Given the description of an element on the screen output the (x, y) to click on. 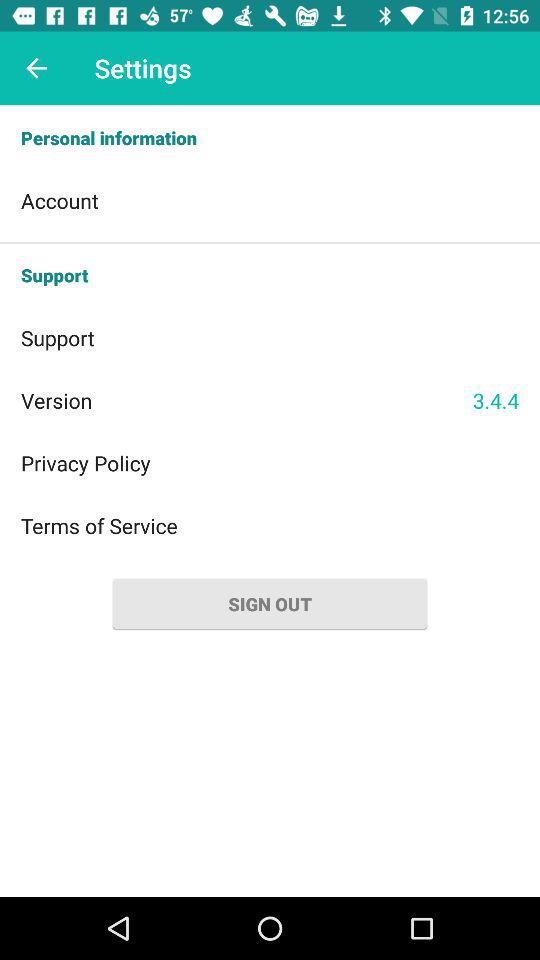
click the icon above account icon (270, 137)
